Given the description of an element on the screen output the (x, y) to click on. 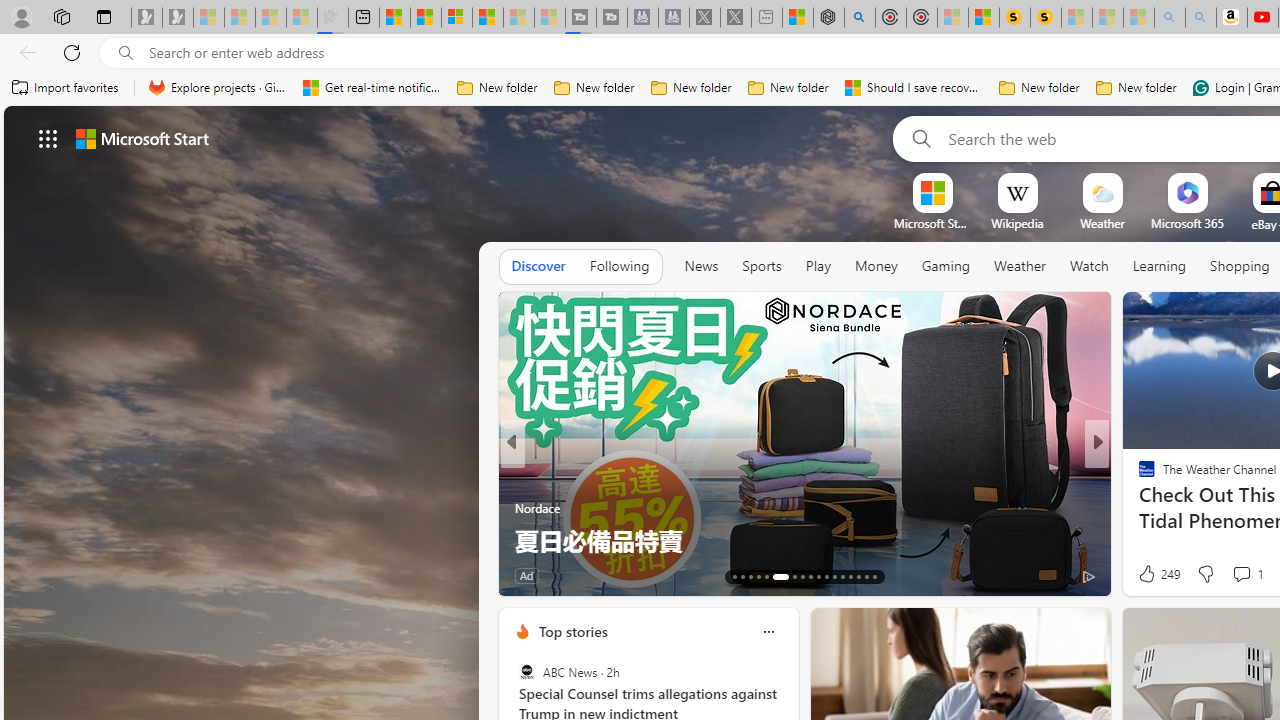
CNBC (522, 475)
Nordace (1153, 507)
View comments 366 Comment (1247, 574)
Nordace - Summer Adventures 2024 (828, 17)
Personal Profile (21, 16)
Sports (761, 265)
Workspaces (61, 16)
AutomationID: tab-25 (842, 576)
Fast Company (1138, 475)
New tab (363, 17)
Play (817, 265)
AutomationID: tab-26 (850, 576)
Back (24, 52)
